Given the description of an element on the screen output the (x, y) to click on. 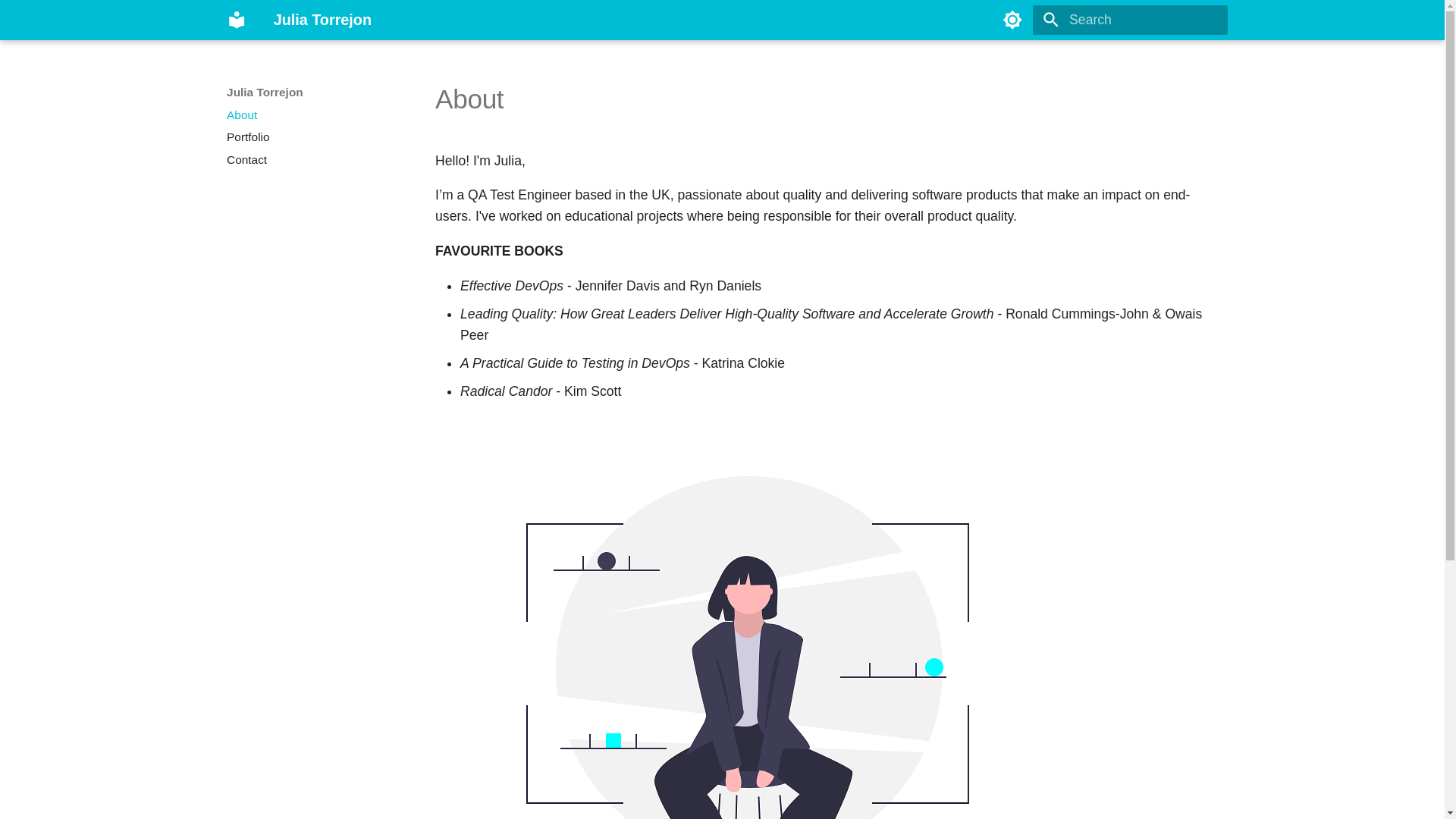
Julia Torrejon (236, 19)
Switch to dark mode (1012, 19)
Portfolio (312, 136)
About (312, 114)
Contact (312, 159)
